Given the description of an element on the screen output the (x, y) to click on. 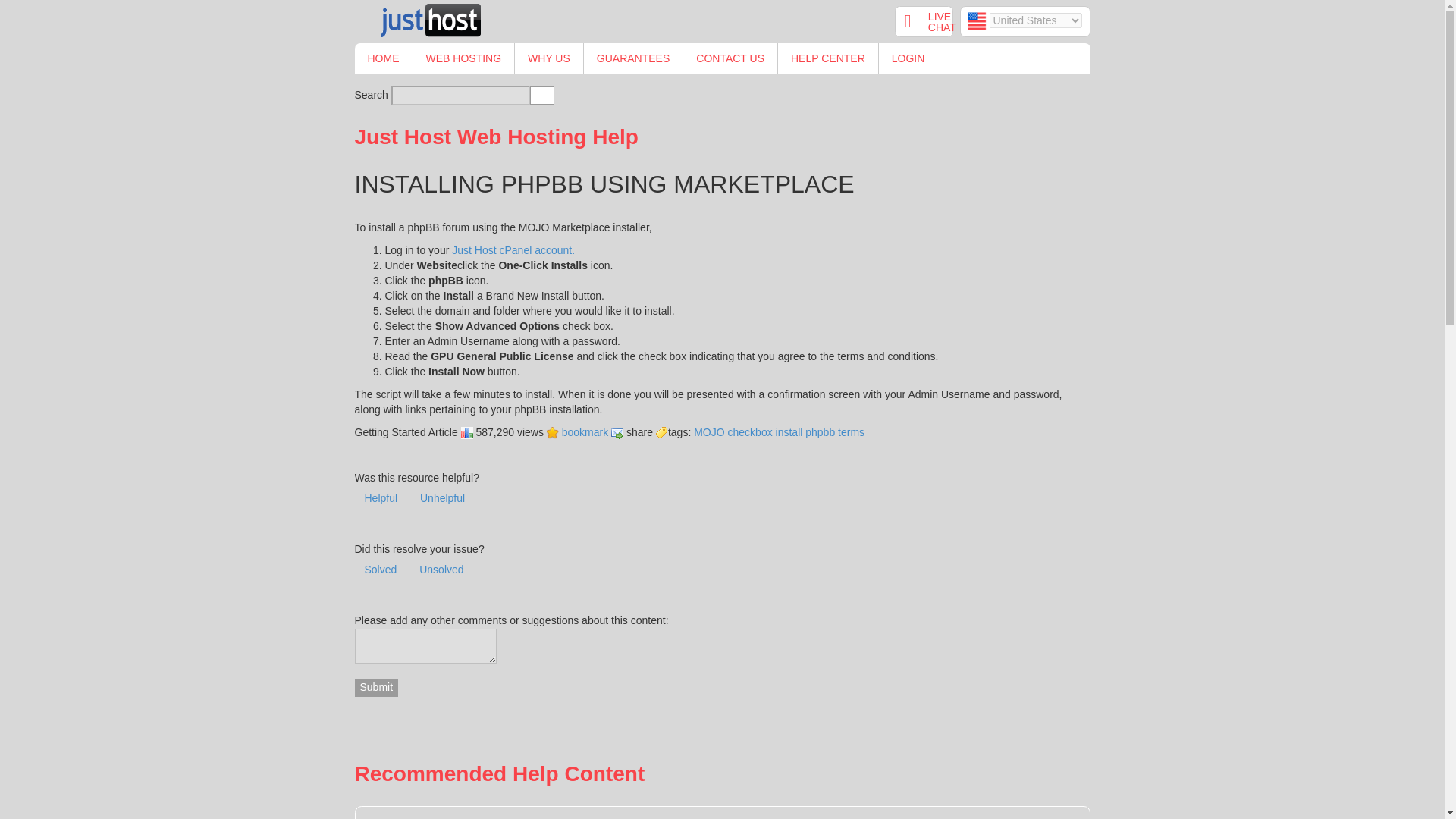
Unhelpful (442, 498)
Installing phpBB using Marketplace (577, 431)
HELP CENTER (827, 58)
CONTACT US (729, 58)
Go (541, 95)
install (789, 431)
WEB HOSTING (463, 58)
bookmark (577, 431)
Submit (376, 687)
phpbb (819, 431)
MOJO (708, 431)
Unsolved (441, 570)
checkbox (750, 431)
Just Host cPanel account. (513, 250)
